Given the description of an element on the screen output the (x, y) to click on. 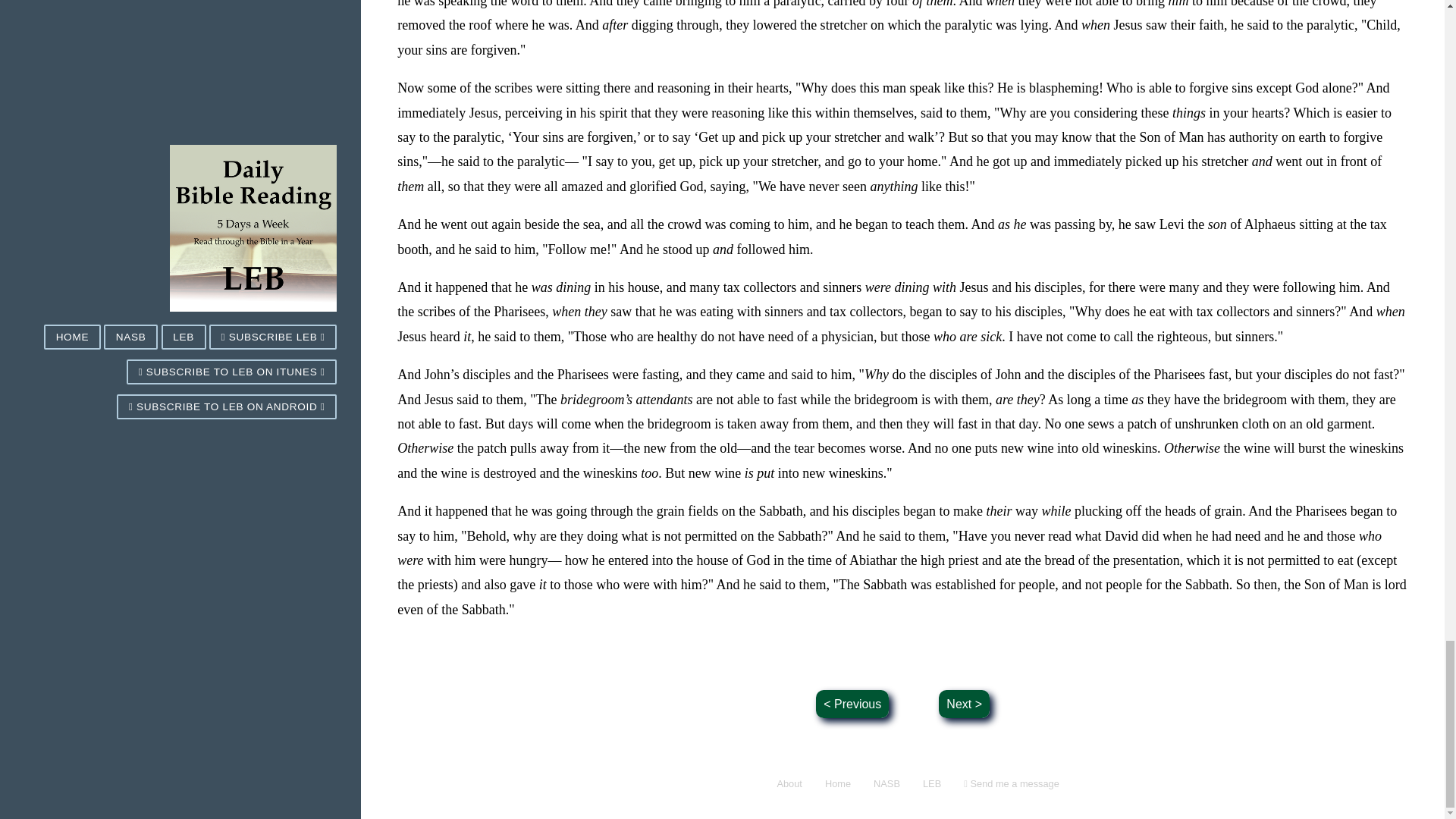
Home (837, 783)
LEB (931, 783)
NASB (885, 783)
Send me a message (1010, 783)
About (789, 783)
